Given the description of an element on the screen output the (x, y) to click on. 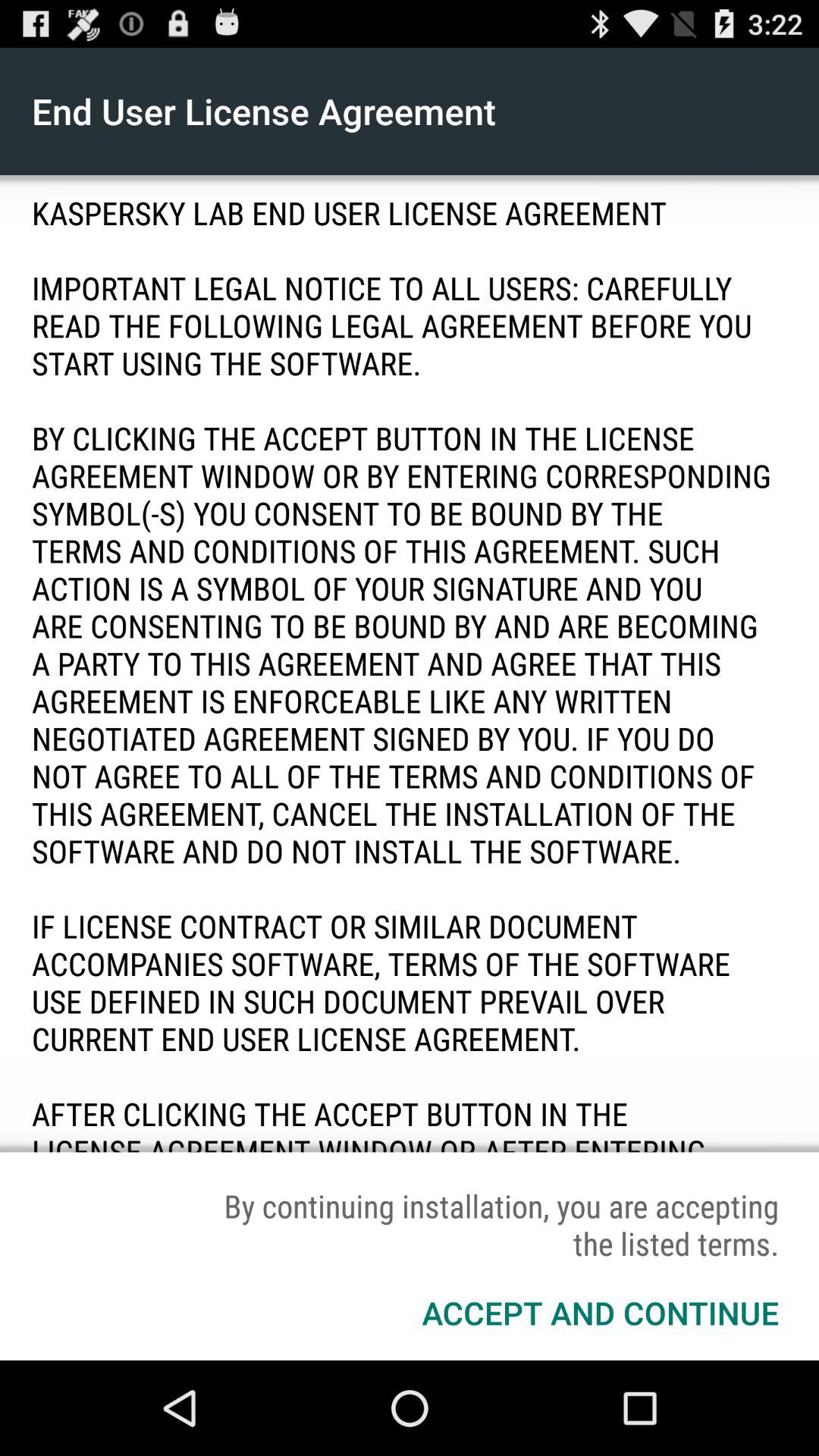
turn on button at the bottom right corner (600, 1312)
